Given the description of an element on the screen output the (x, y) to click on. 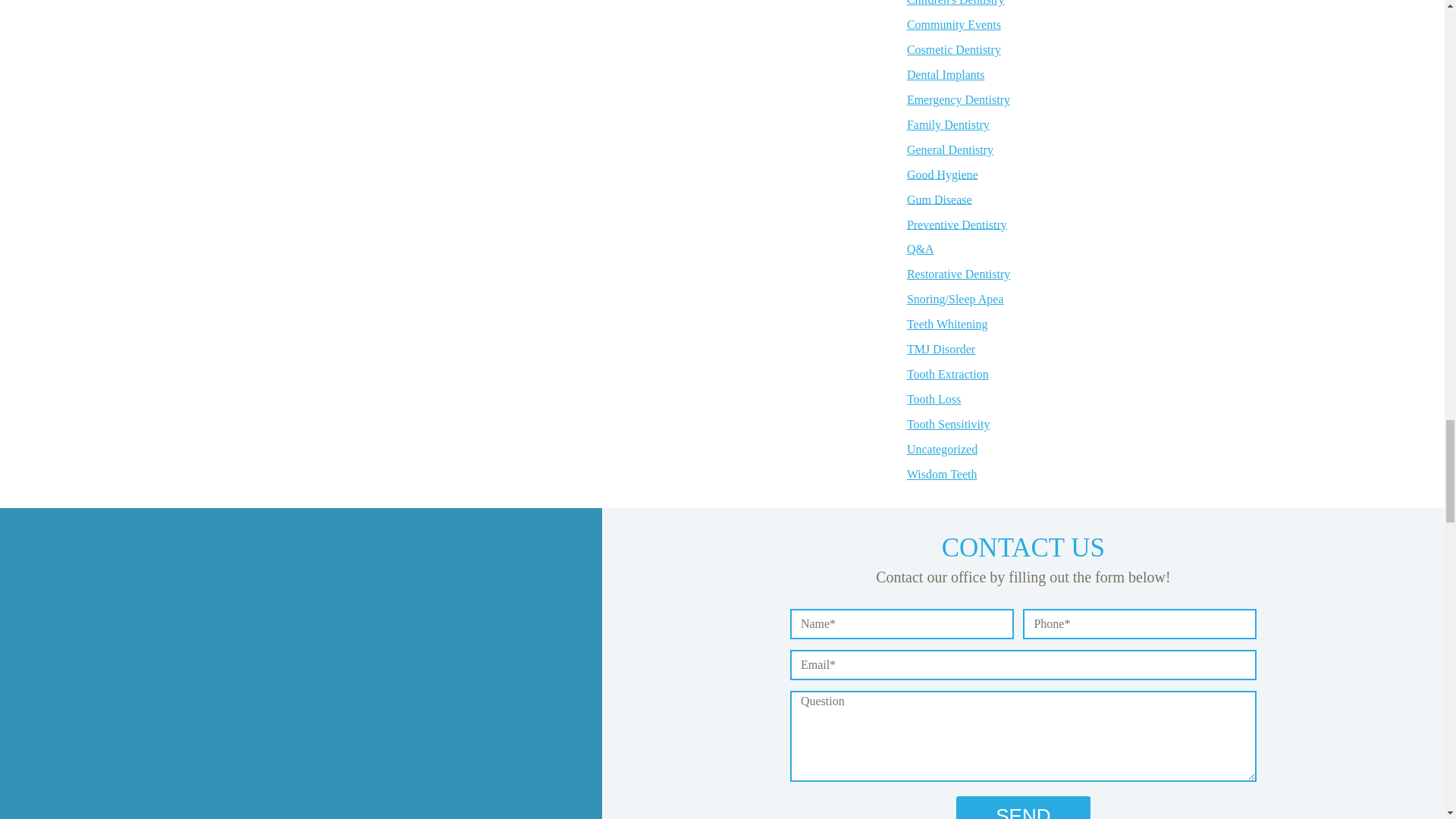
Send (1022, 807)
